Given the description of an element on the screen output the (x, y) to click on. 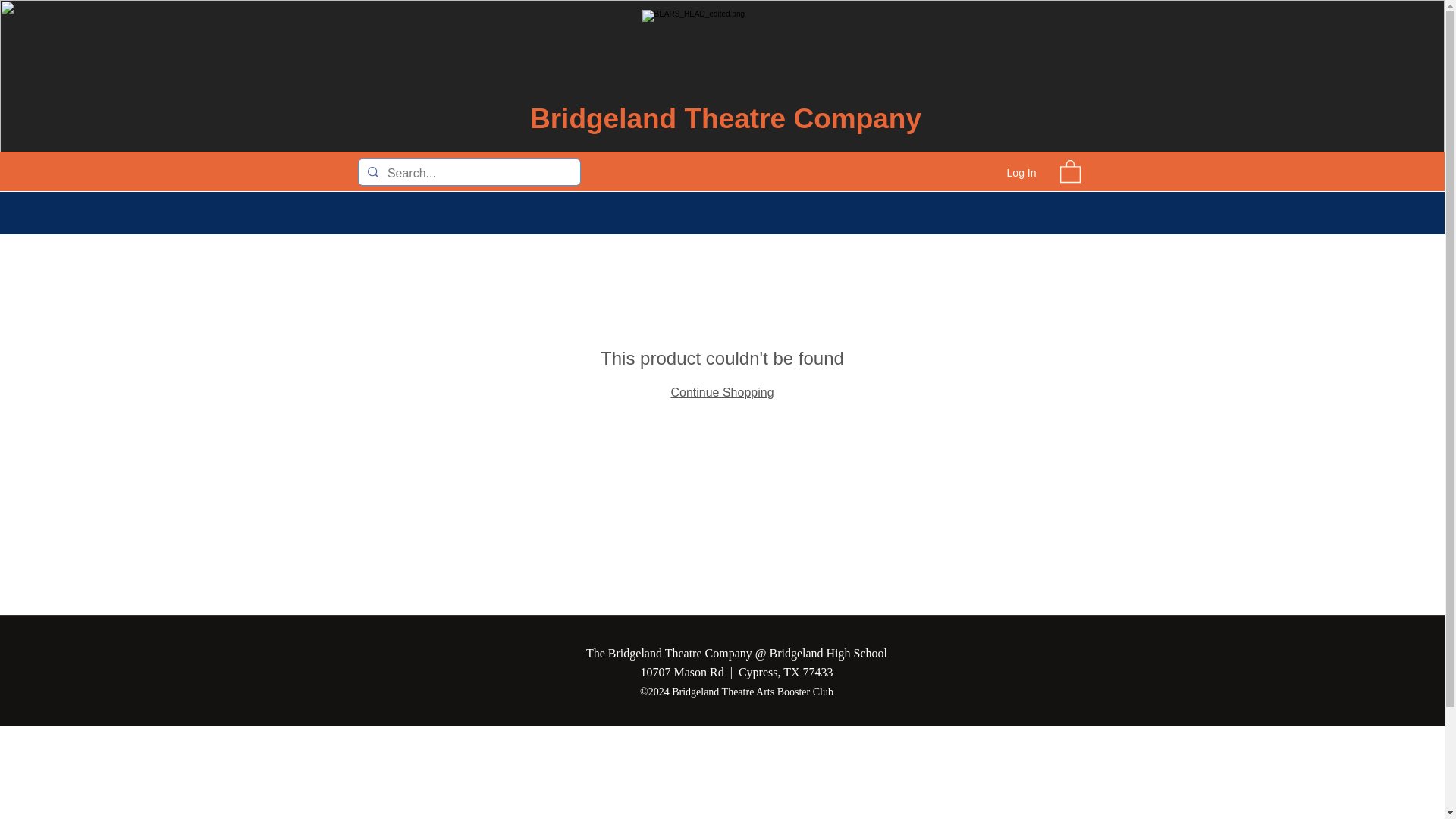
Log In (1020, 173)
Bridgeland Theatre Company (725, 118)
Continue Shopping (721, 391)
